Given the description of an element on the screen output the (x, y) to click on. 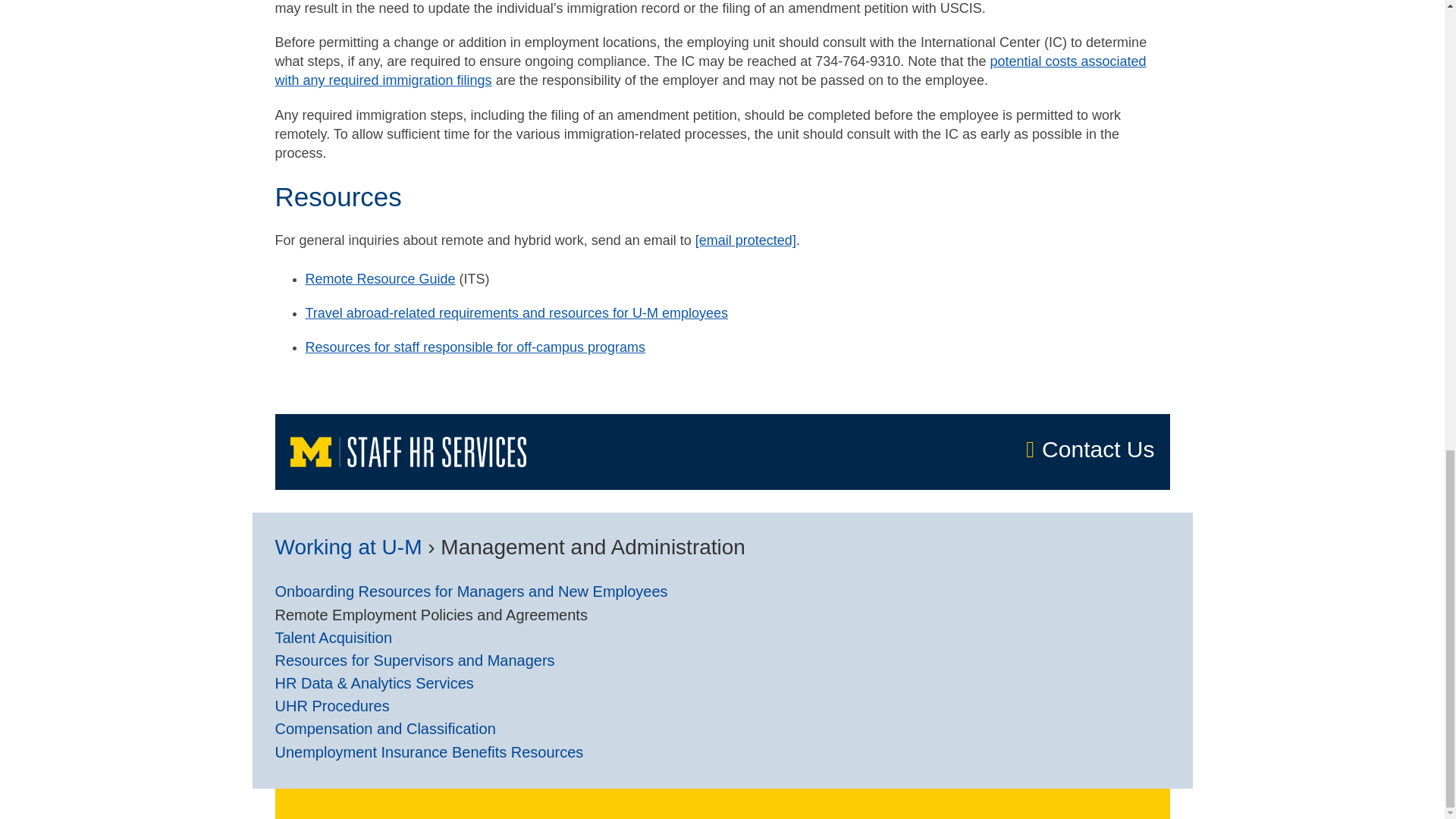
Resources for Supervisors and Managers (414, 660)
Talent Acquisition (333, 637)
Compensation and Classification (385, 728)
Onboarding Resources for Managers and New Employees (470, 591)
Working at U-M (348, 546)
Unemployment Insurance Benefits Resources (429, 752)
Resources for staff responsible for off-campus programs (474, 346)
Contact Us (1024, 449)
